Given the description of an element on the screen output the (x, y) to click on. 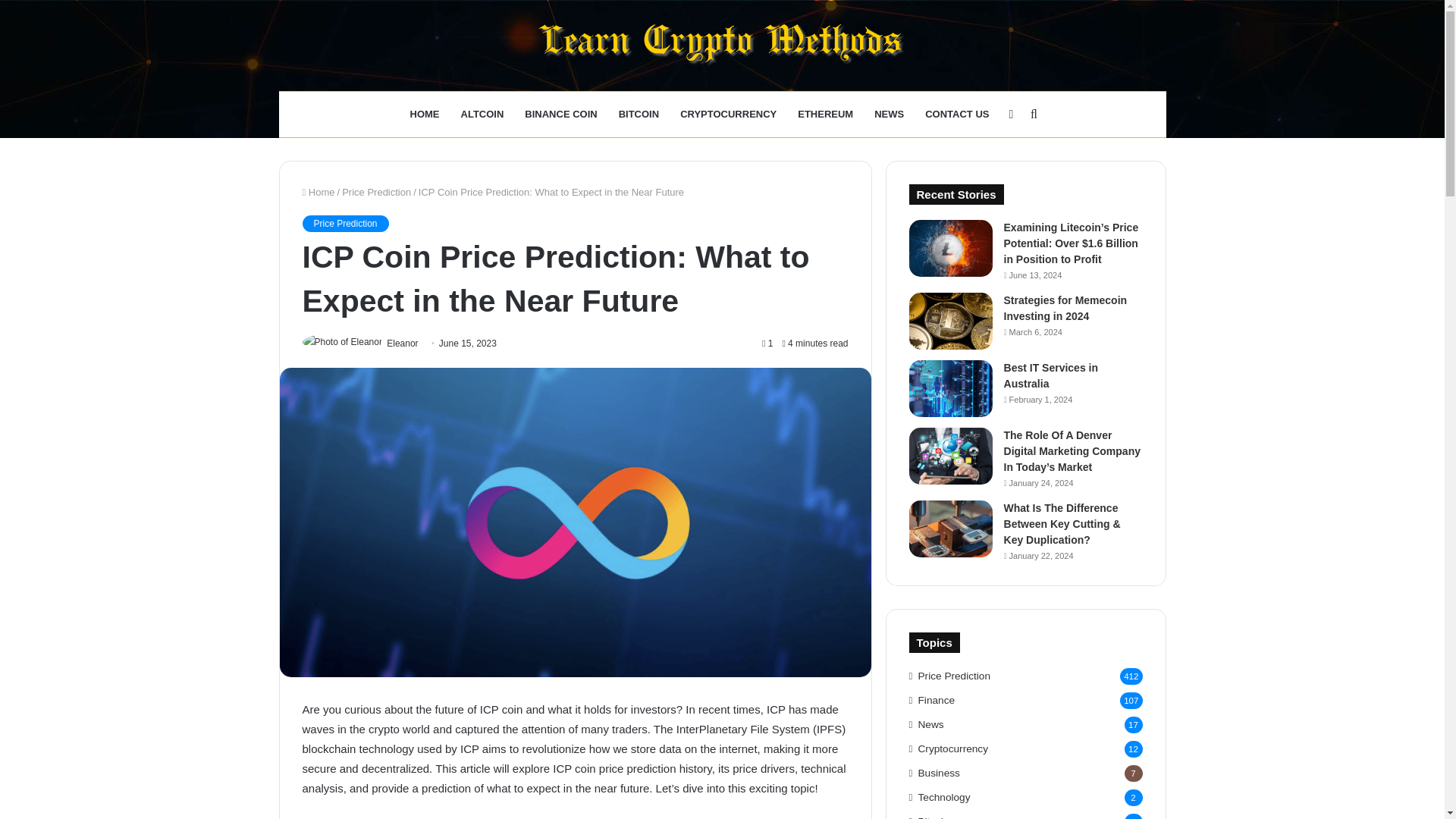
Price Prediction (954, 675)
BINANCE COIN (560, 114)
Finance (936, 700)
Price Prediction (344, 223)
Best IT Services in Australia (1051, 375)
CRYPTOCURRENCY (728, 114)
HOME (423, 114)
NEWS (888, 114)
Learn Crypto Methods (722, 44)
Business (938, 772)
Cryptocurrency (953, 748)
CONTACT US (956, 114)
Strategies for Memecoin Investing in 2024 (1065, 308)
Technology (944, 797)
BITCOIN (638, 114)
